Given the description of an element on the screen output the (x, y) to click on. 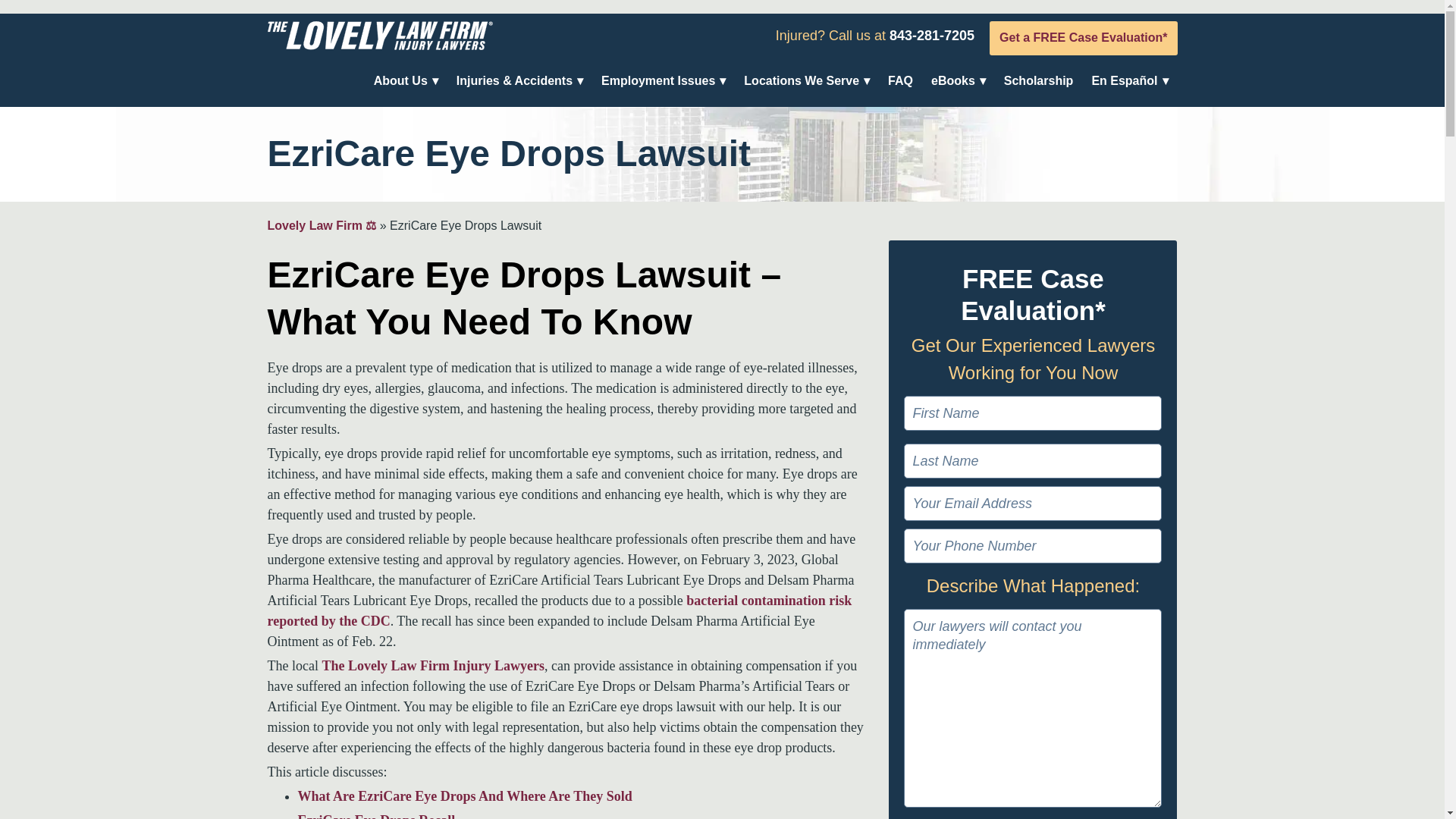
843-281-7205 (931, 35)
Employment Issues (657, 80)
About Us (401, 80)
Locations We Serve (801, 80)
